Given the description of an element on the screen output the (x, y) to click on. 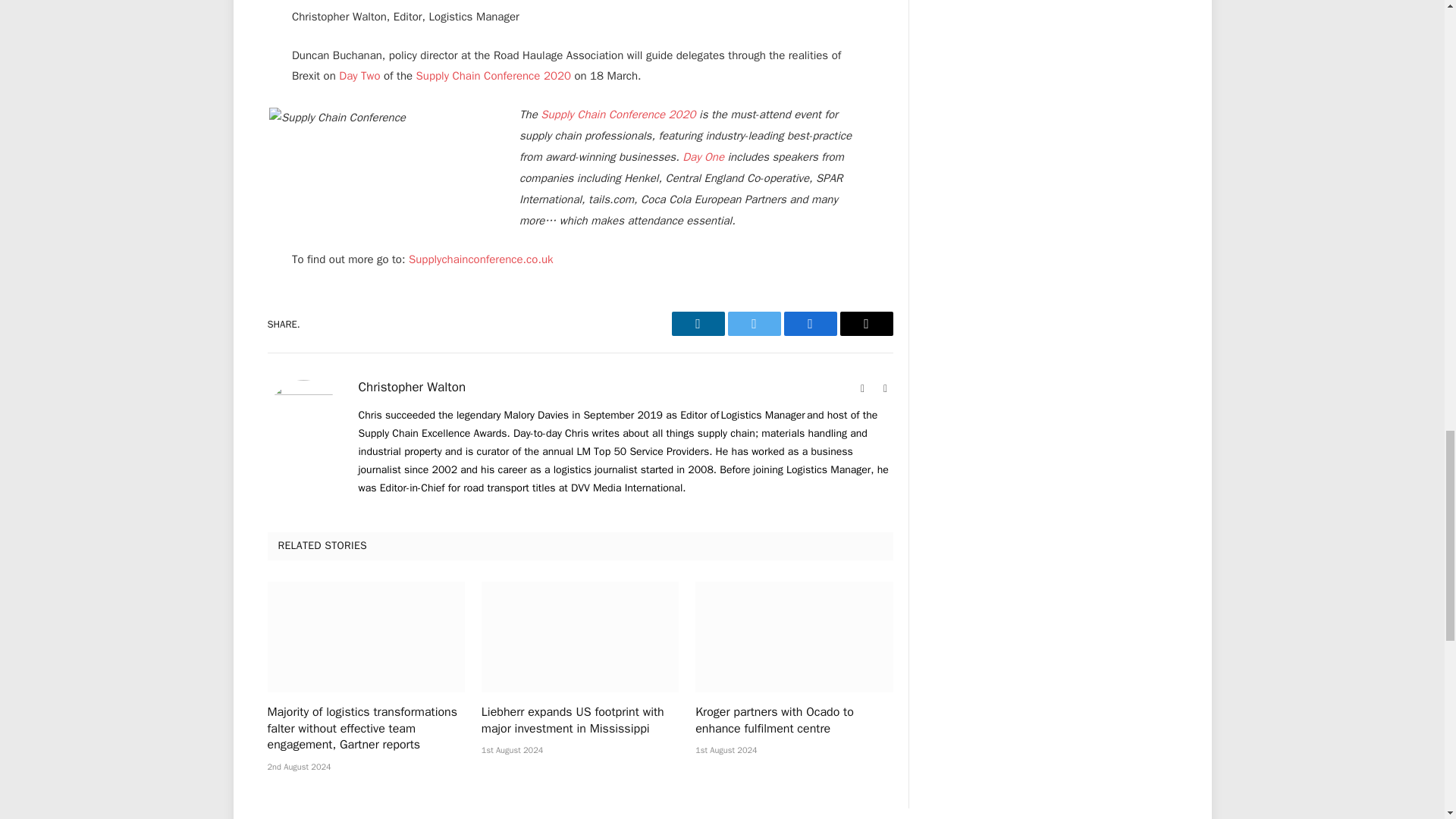
Share on LinkedIn (698, 323)
